Given the description of an element on the screen output the (x, y) to click on. 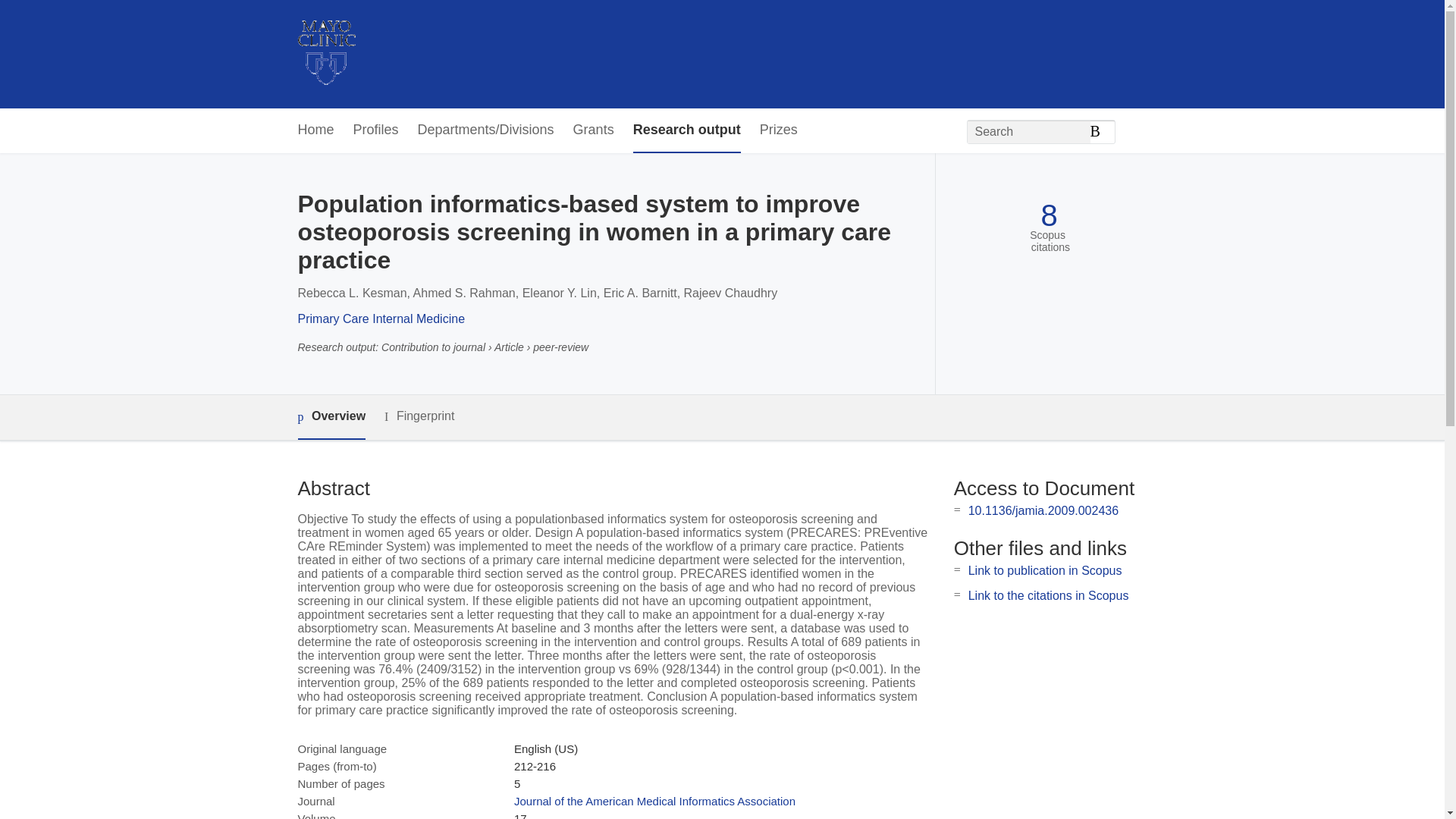
Primary Care Internal Medicine (380, 318)
Research output (687, 130)
Profiles (375, 130)
Overview (331, 416)
Fingerprint (419, 416)
Link to the citations in Scopus (1048, 594)
Grants (593, 130)
Journal of the American Medical Informatics Association (653, 800)
Link to publication in Scopus (1045, 570)
